Given the description of an element on the screen output the (x, y) to click on. 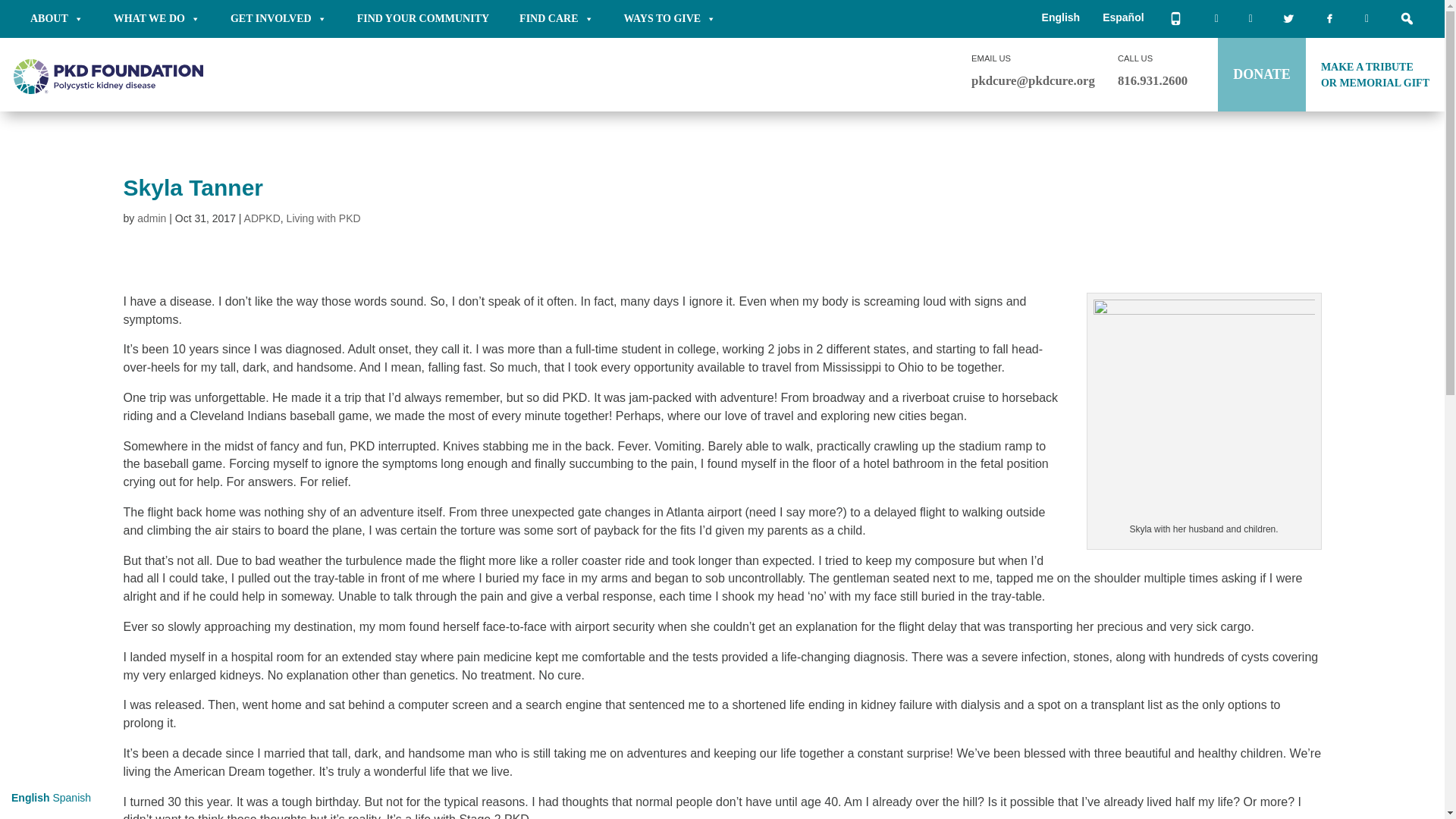
Posts by admin (150, 218)
FIND CARE (555, 18)
English (1061, 17)
ABOUT (56, 18)
FIND YOUR COMMUNITY (422, 18)
WAYS TO GIVE (669, 18)
GET INVOLVED (278, 18)
English (1061, 17)
WHAT WE DO (157, 18)
